Given the description of an element on the screen output the (x, y) to click on. 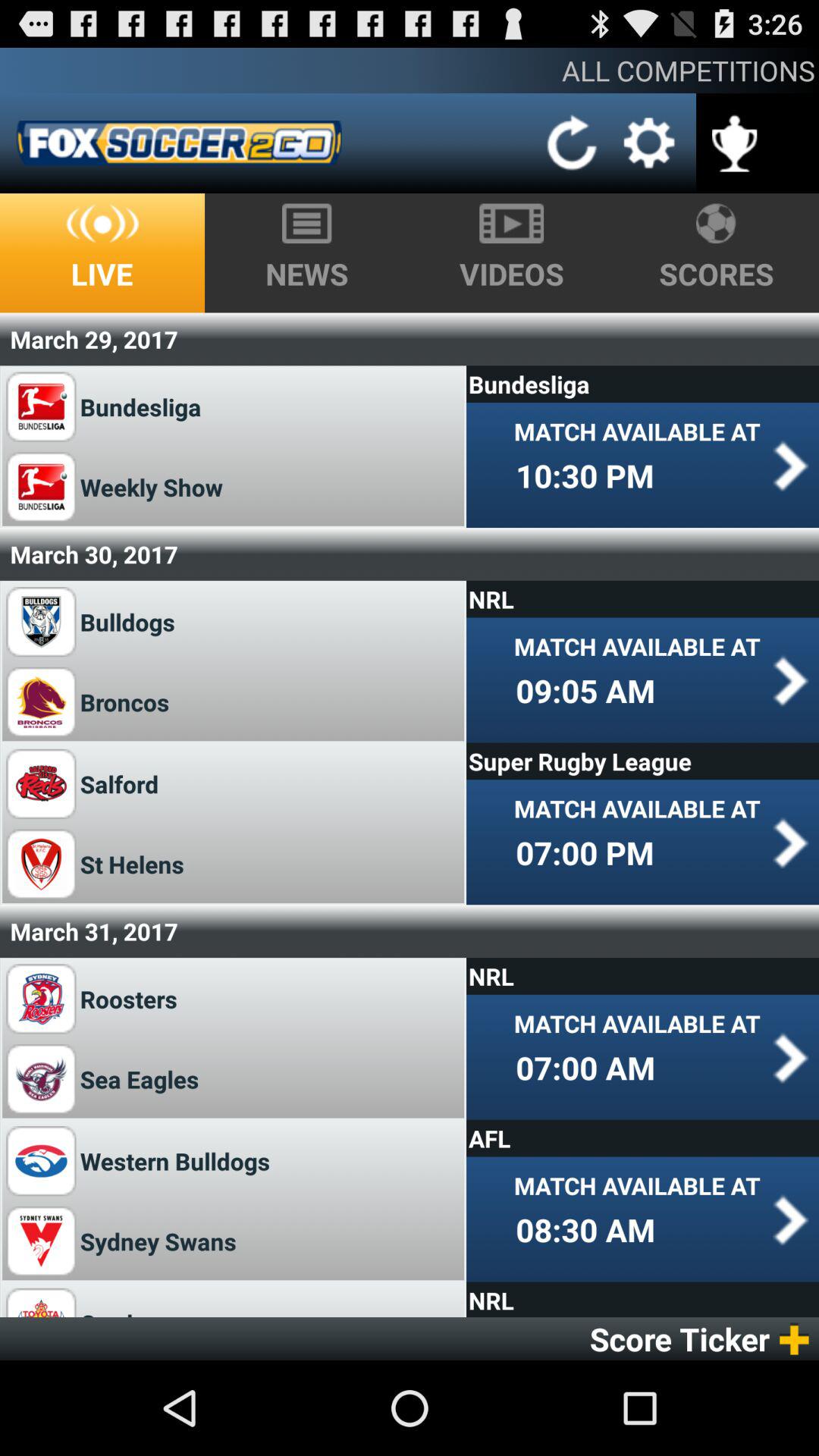
turn on app next to the super rugby league icon (119, 783)
